Given the description of an element on the screen output the (x, y) to click on. 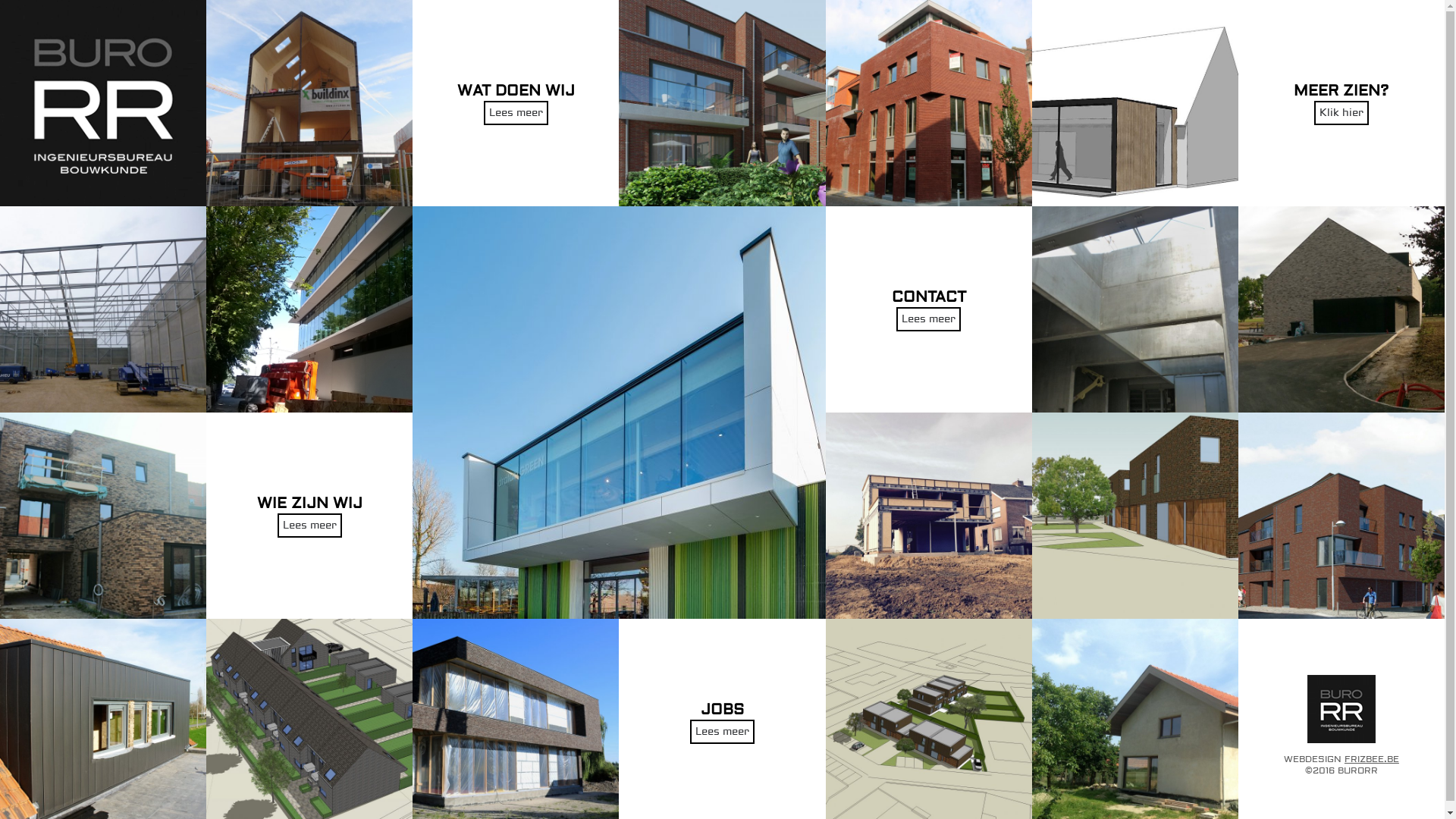
Lees meer Element type: text (928, 319)
BURORR is een stabiliteitsbureau en bouwkundigbureau Element type: hover (103, 102)
Lees meer Element type: text (309, 525)
Klik hier Element type: text (1341, 112)
Lees meer Element type: text (515, 112)
FRIZBEE.BE Element type: text (1371, 759)
Lees meer Element type: text (722, 731)
